Given the description of an element on the screen output the (x, y) to click on. 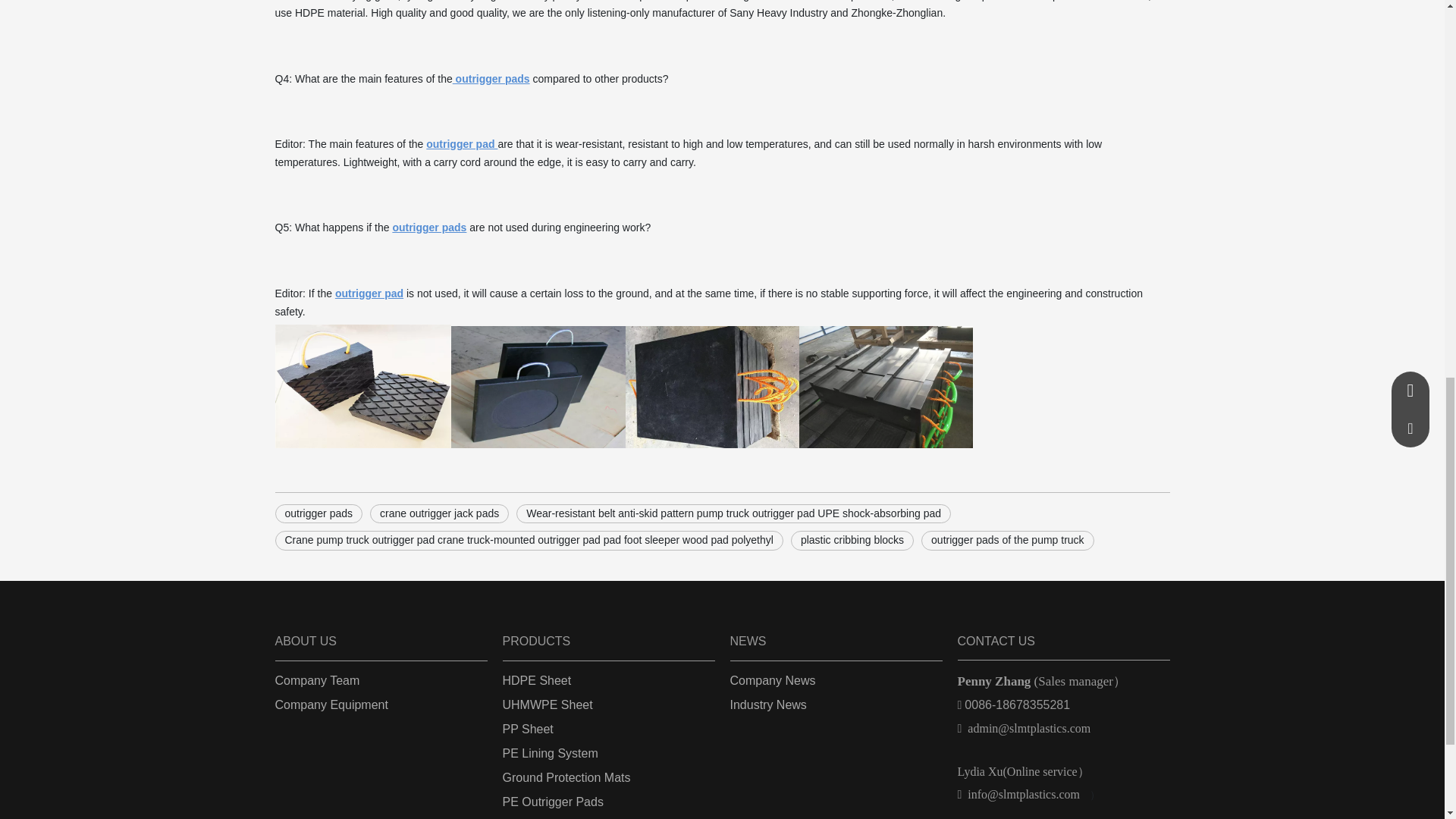
UHMWPE Sheet (547, 704)
crane cribbing block (885, 386)
Company Team (317, 680)
plastic cribbing blocks (852, 540)
outrigger pads of the pump truck (1007, 540)
Company Equipment (331, 704)
outrigger pads (536, 386)
 HDPE Sheet  (536, 680)
PP Sheet (527, 728)
outrigger pads (318, 514)
Crane pump truck outrigger pad (362, 385)
crane outrigger jack pads (438, 514)
